Given the description of an element on the screen output the (x, y) to click on. 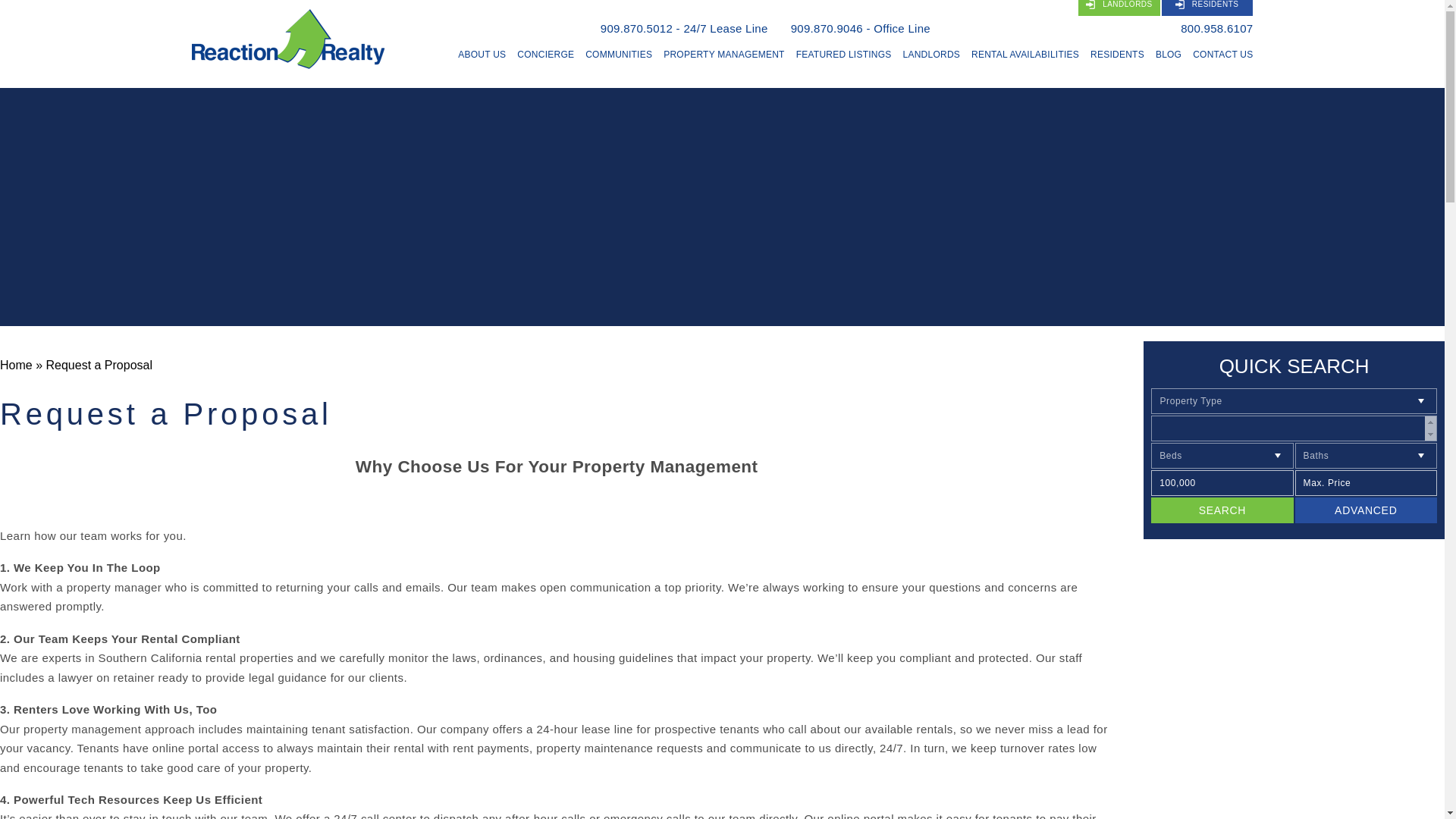
CONCIERGE (544, 54)
City (1293, 428)
ABOUT US (481, 54)
100,000 (1221, 483)
800.958.6107 (1216, 29)
Search (1221, 510)
909.870.9046 - Office Line (860, 29)
LANDLORDS (1119, 7)
Search (1221, 510)
RESIDENTS (1206, 7)
